Given the description of an element on the screen output the (x, y) to click on. 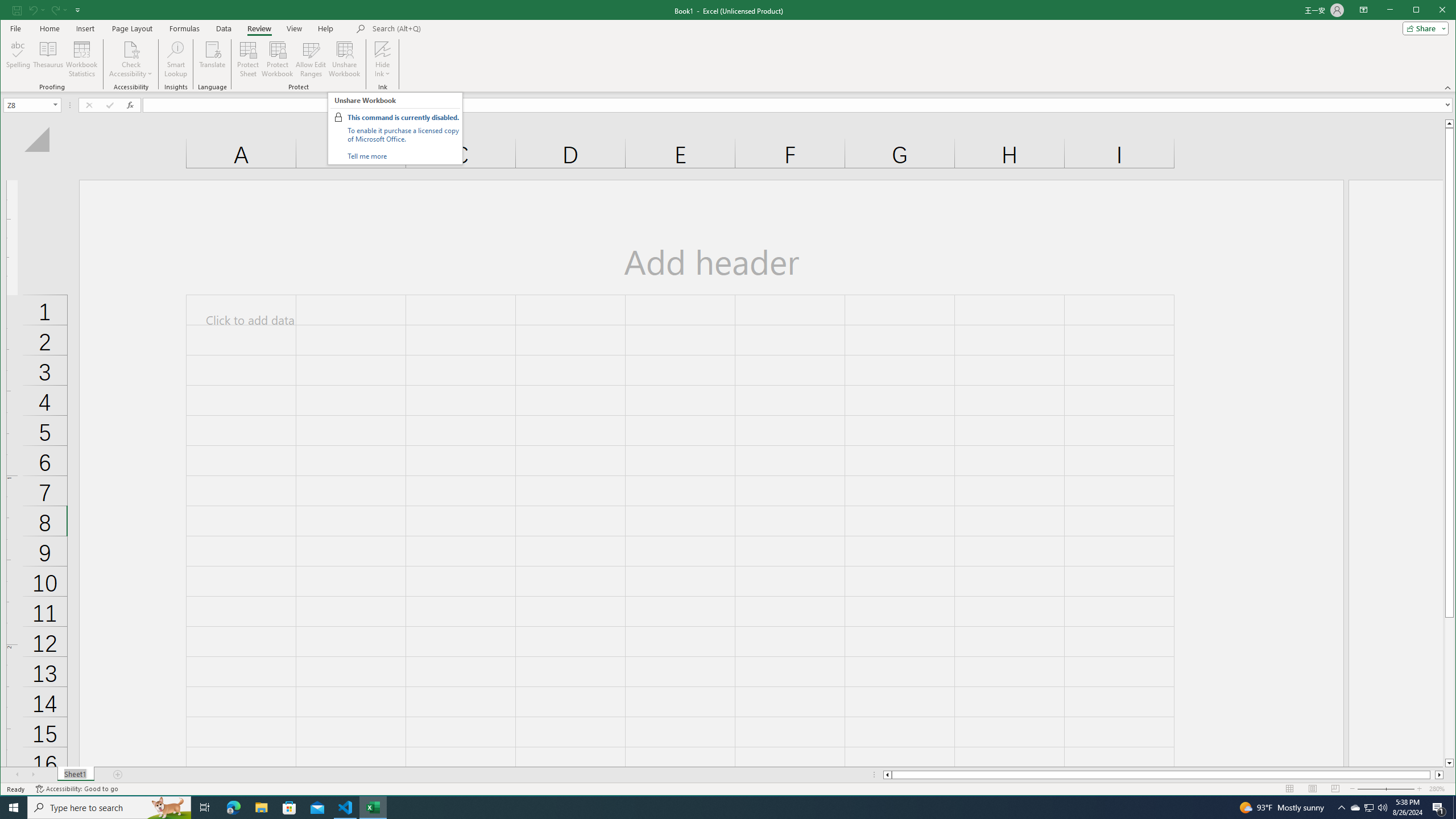
Running applications (717, 807)
Protect Sheet... (247, 59)
Protect Workbook... (277, 59)
Action Center, 1 new notification (1439, 807)
